Given the description of an element on the screen output the (x, y) to click on. 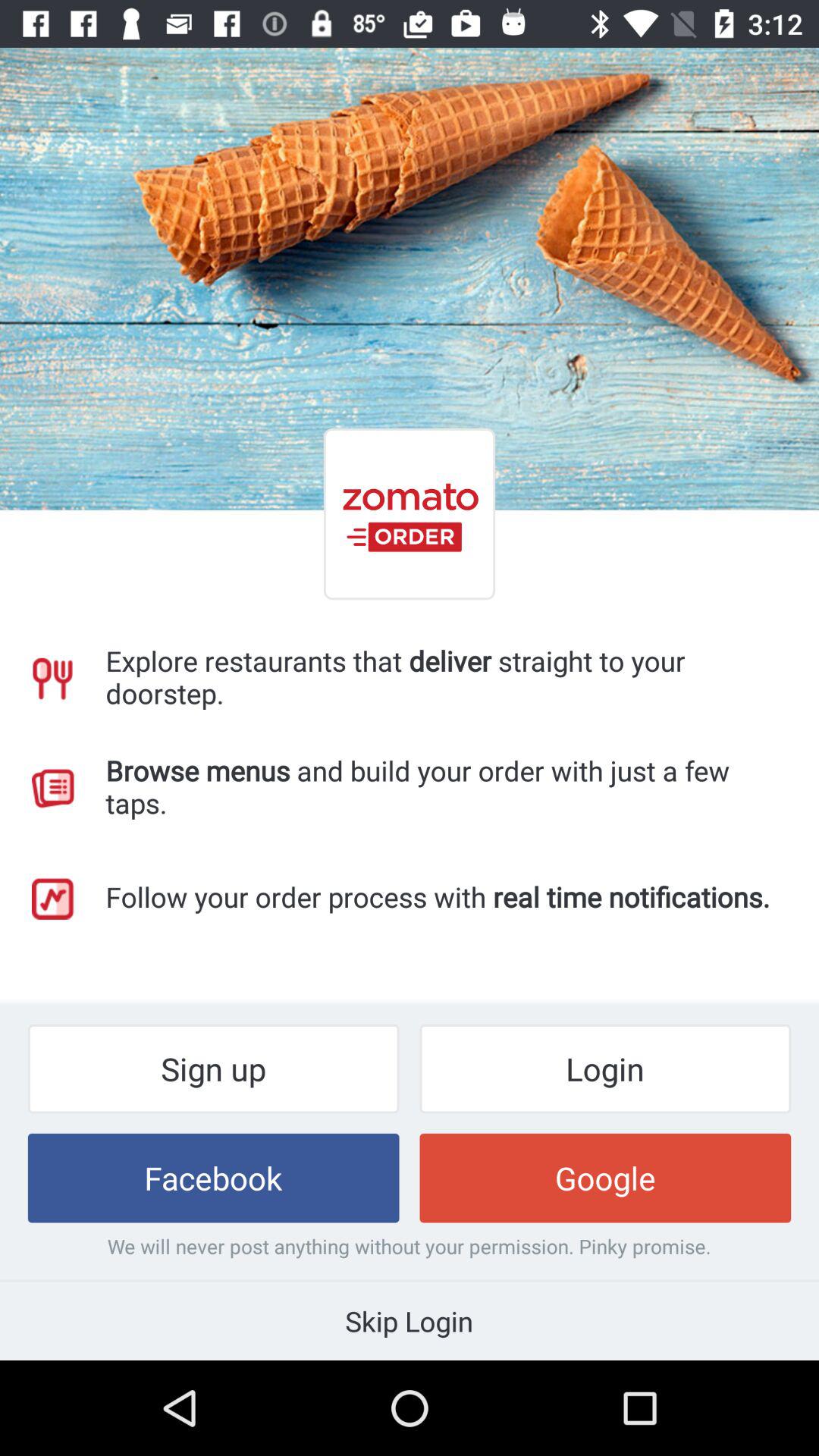
turn on icon below the sign up icon (213, 1177)
